Given the description of an element on the screen output the (x, y) to click on. 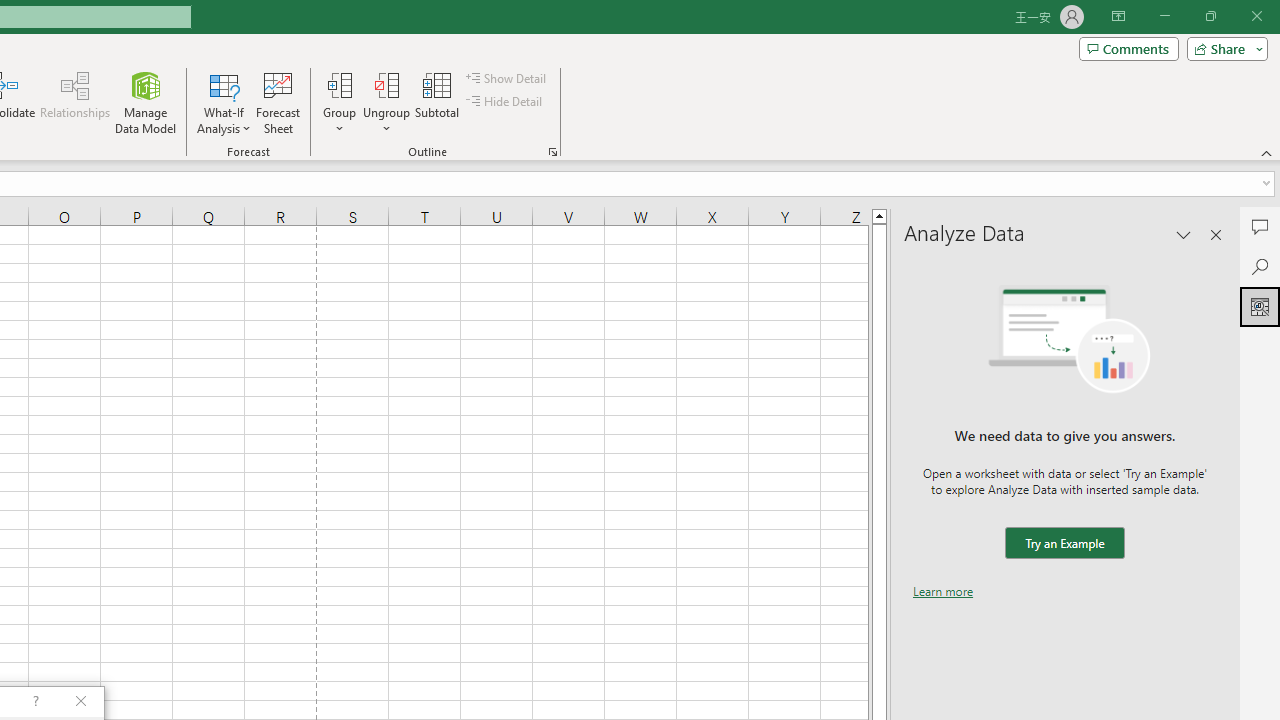
Forecast Sheet (278, 102)
Search (1260, 266)
We need data to give you answers. Try an Example (1064, 543)
Relationships (75, 102)
Task Pane Options (1183, 234)
Group and Outline Settings (552, 151)
Learn more (943, 591)
Show Detail (507, 78)
Close pane (1215, 234)
